Given the description of an element on the screen output the (x, y) to click on. 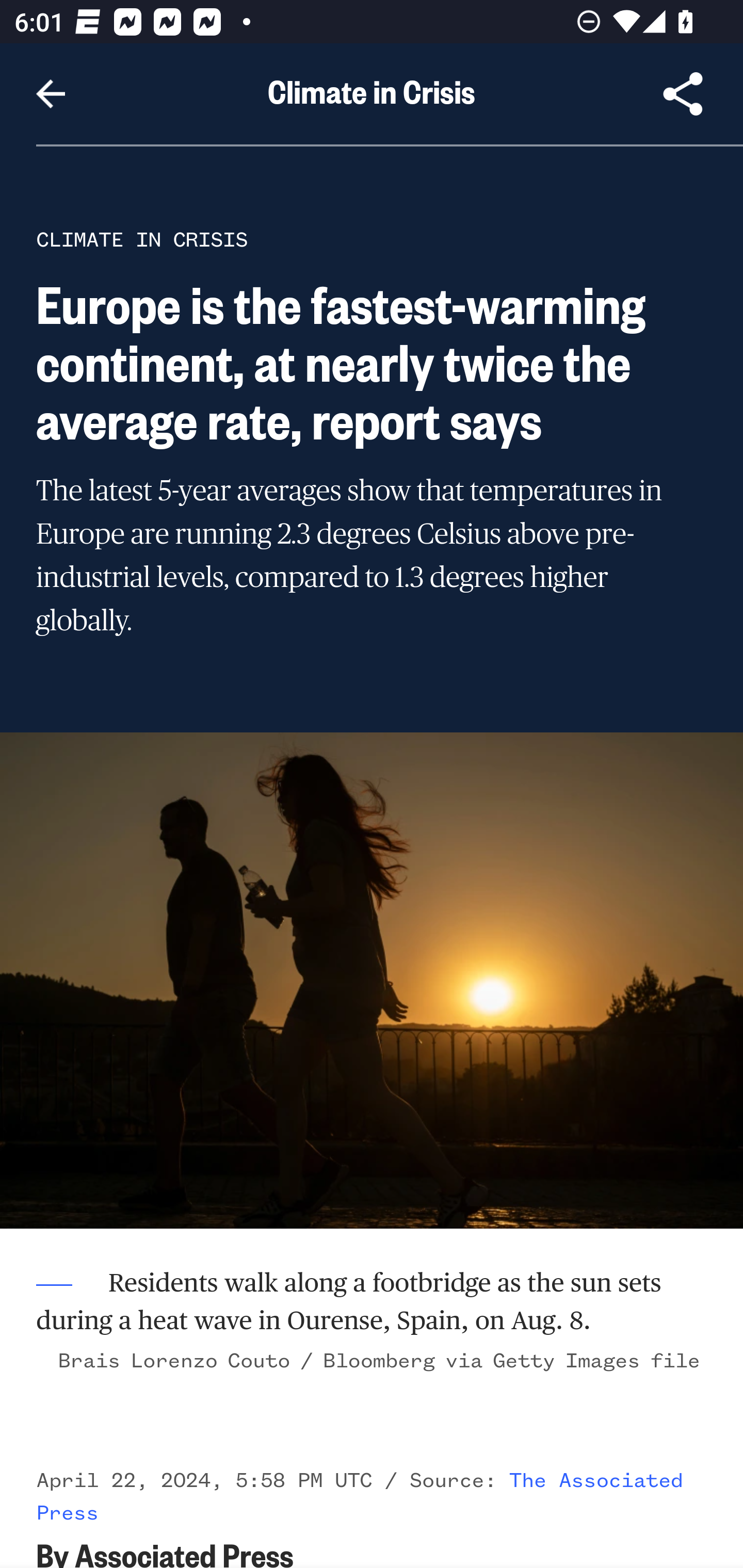
Navigate up (50, 93)
Share Article, button (683, 94)
